Given the description of an element on the screen output the (x, y) to click on. 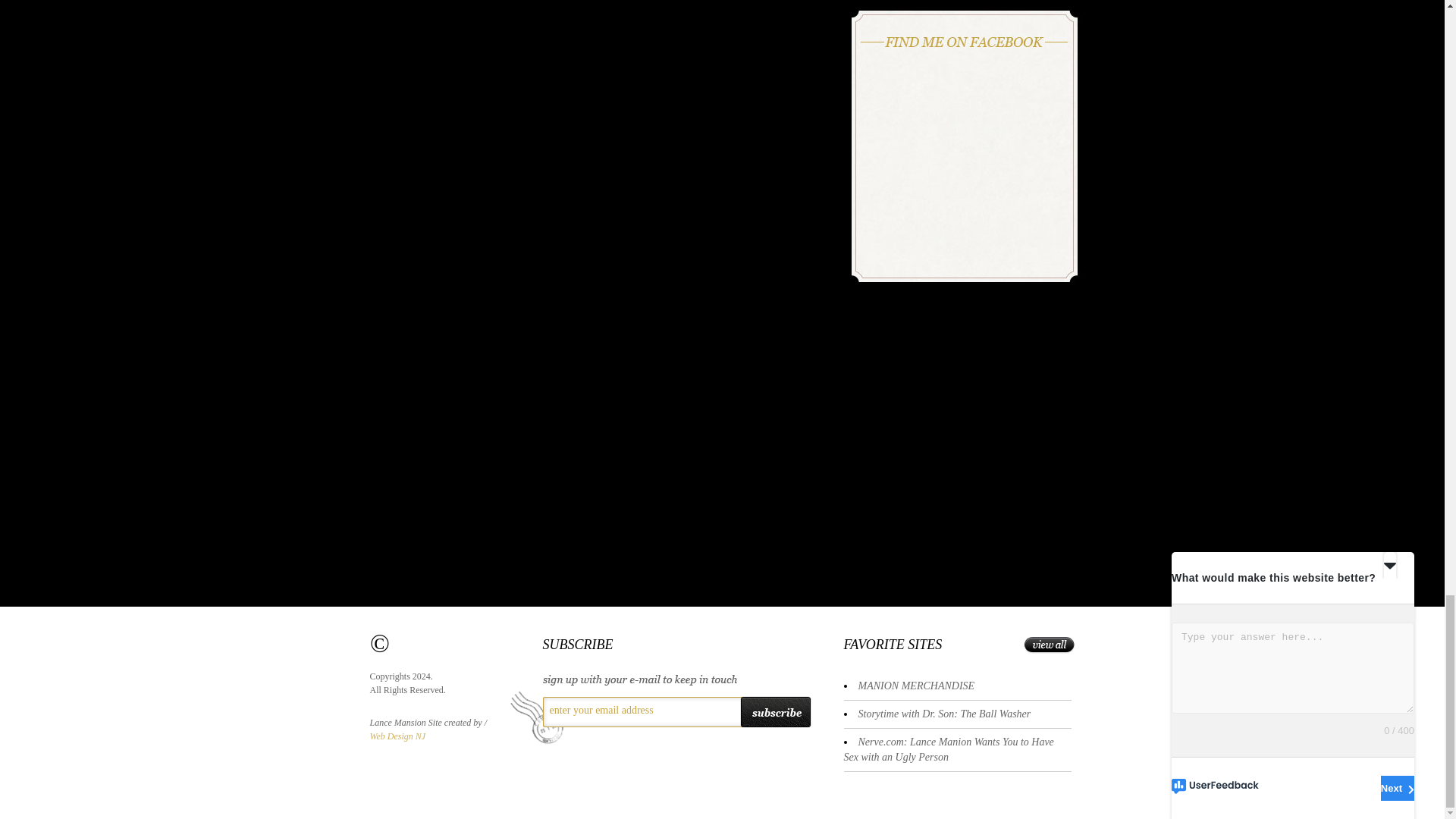
enter your email address (639, 710)
A great reading of The Ball Washer (944, 713)
very funny article (947, 749)
